Given the description of an element on the screen output the (x, y) to click on. 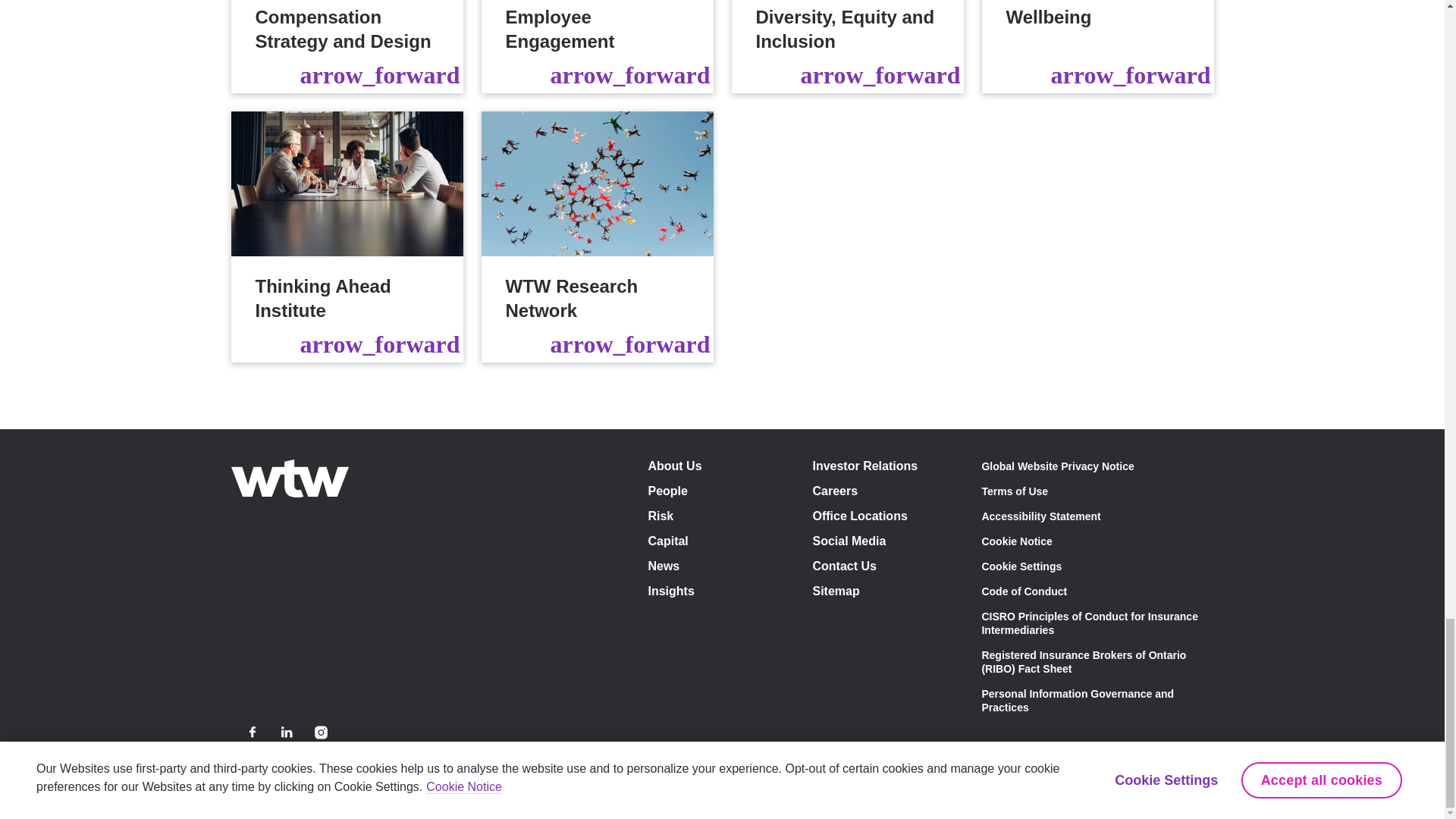
Thinking Ahead Institute (346, 236)
Diversity, Equity and Inclusion (846, 46)
Wellbeing (1096, 46)
Compensation Strategy and Design (346, 46)
Employee Engagement (596, 46)
